Given the description of an element on the screen output the (x, y) to click on. 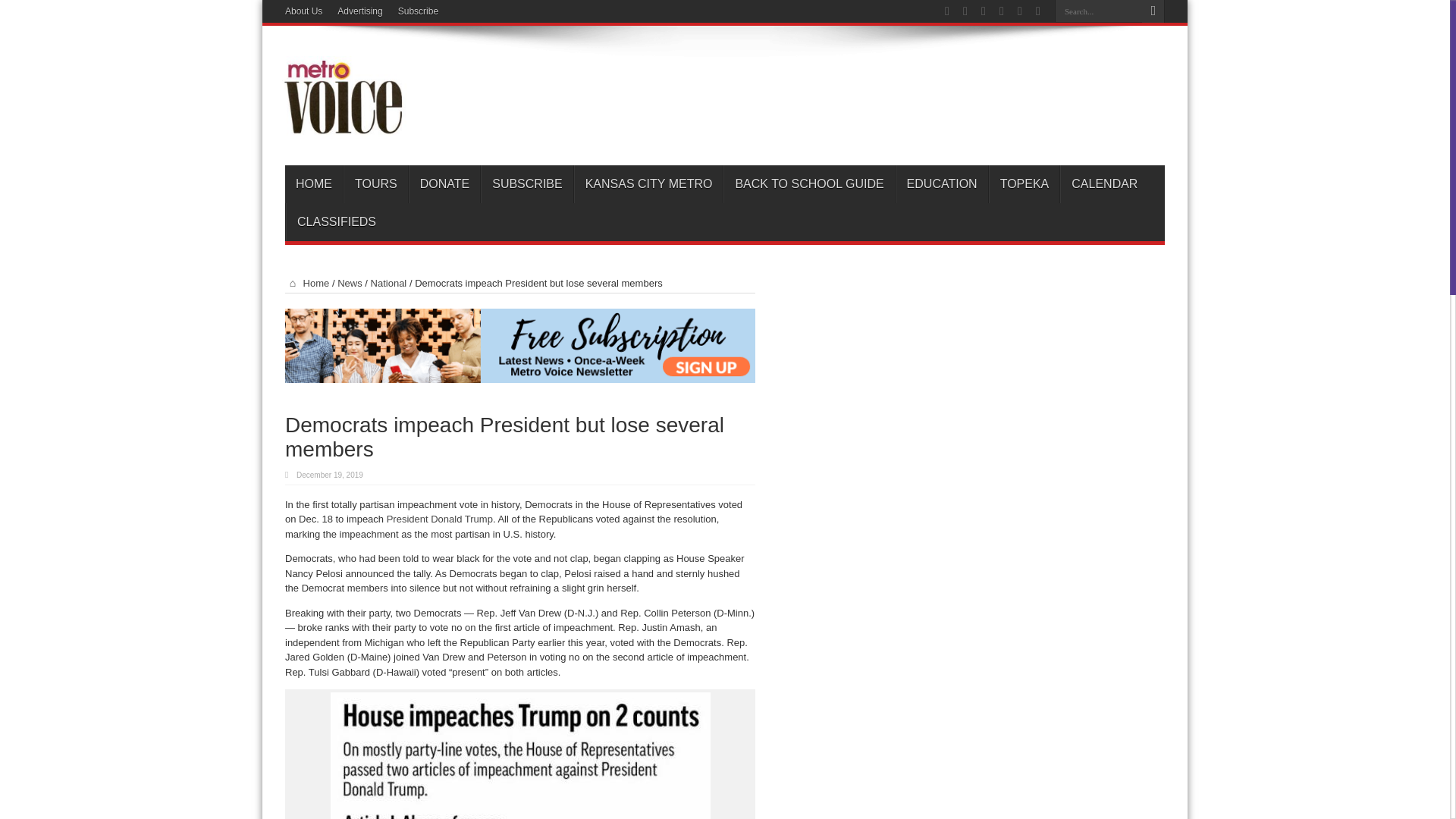
SUBSCRIBE (526, 184)
HOME (313, 184)
Search (1152, 11)
TOPEKA (1023, 184)
About Us (303, 11)
BACK TO SCHOOL GUIDE (808, 184)
TOURS (375, 184)
Subscribe (417, 11)
KANSAS CITY METRO (648, 184)
Search... (1097, 11)
